Given the description of an element on the screen output the (x, y) to click on. 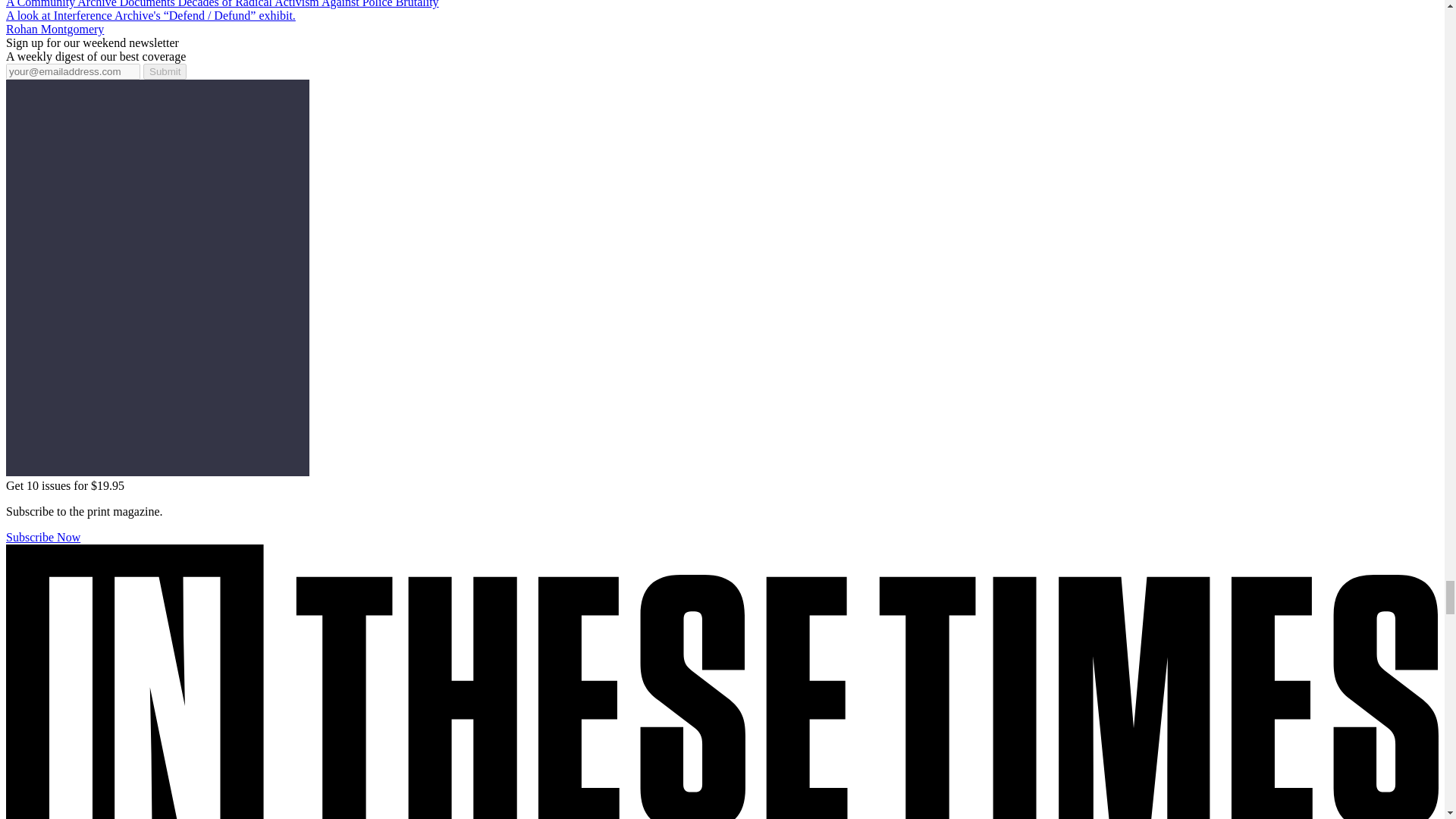
Submit (164, 71)
